Given the description of an element on the screen output the (x, y) to click on. 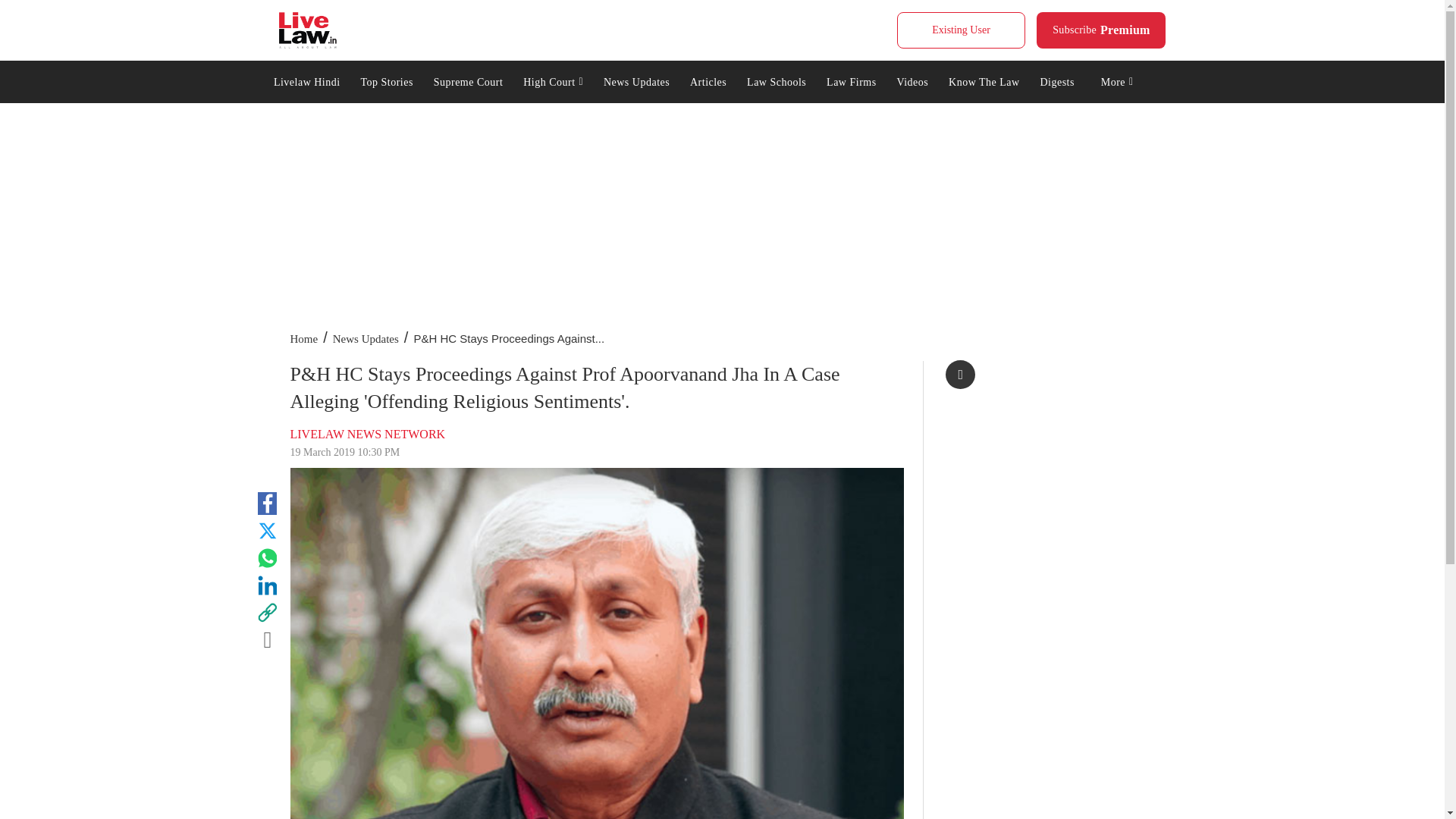
Existing User (960, 30)
Livelaw Hindi (1101, 30)
Live Law (306, 80)
Top Stories (307, 30)
Supreme Court (386, 80)
High Court (467, 80)
